Given the description of an element on the screen output the (x, y) to click on. 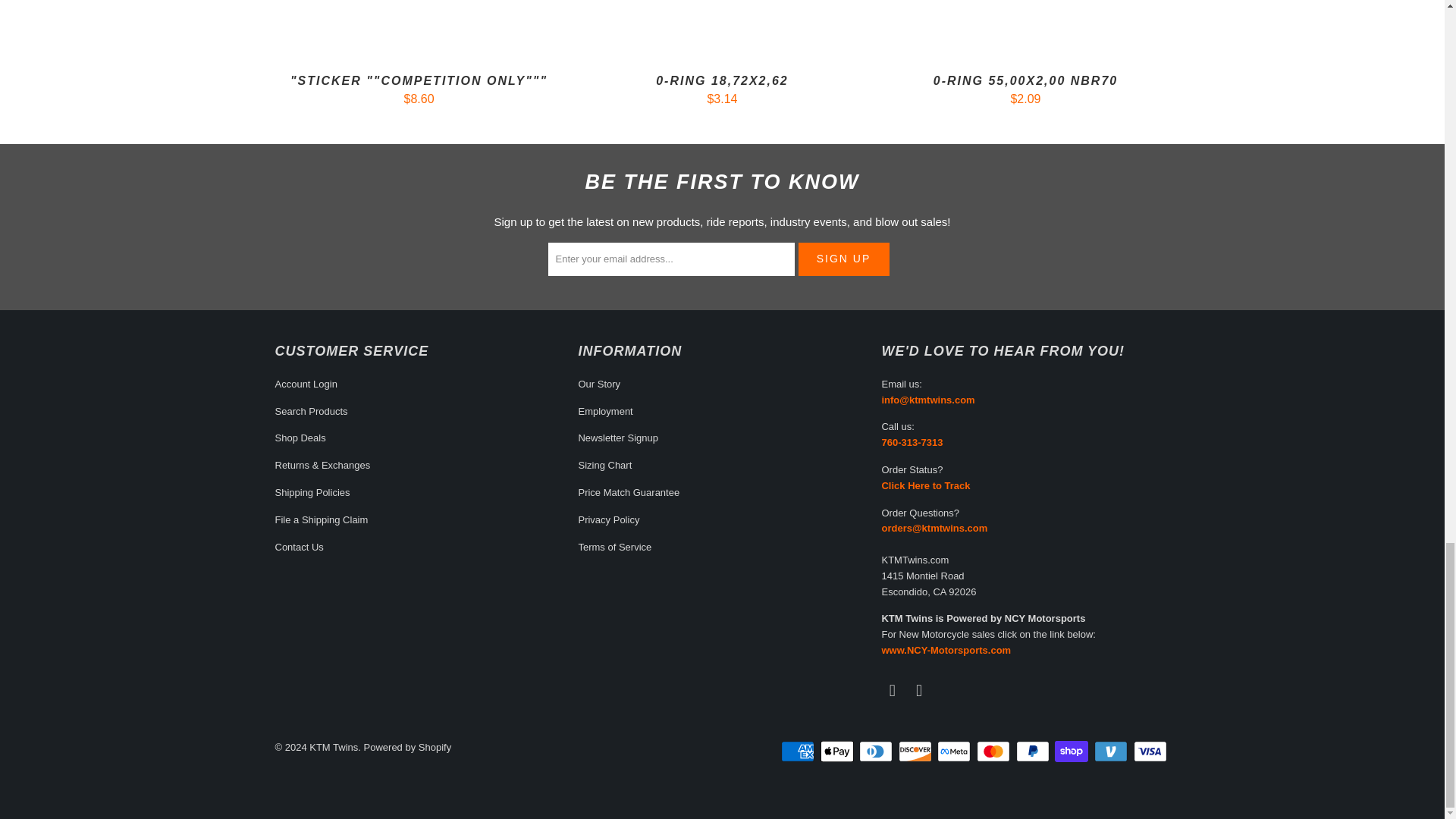
American Express (798, 751)
760-313-7313 (911, 441)
PayPal (1034, 751)
Apple Pay (839, 751)
Track My Package (924, 485)
Meta Pay (955, 751)
Mastercard (994, 751)
Diners Club (877, 751)
Visa (1150, 751)
Discover (916, 751)
